Given the description of an element on the screen output the (x, y) to click on. 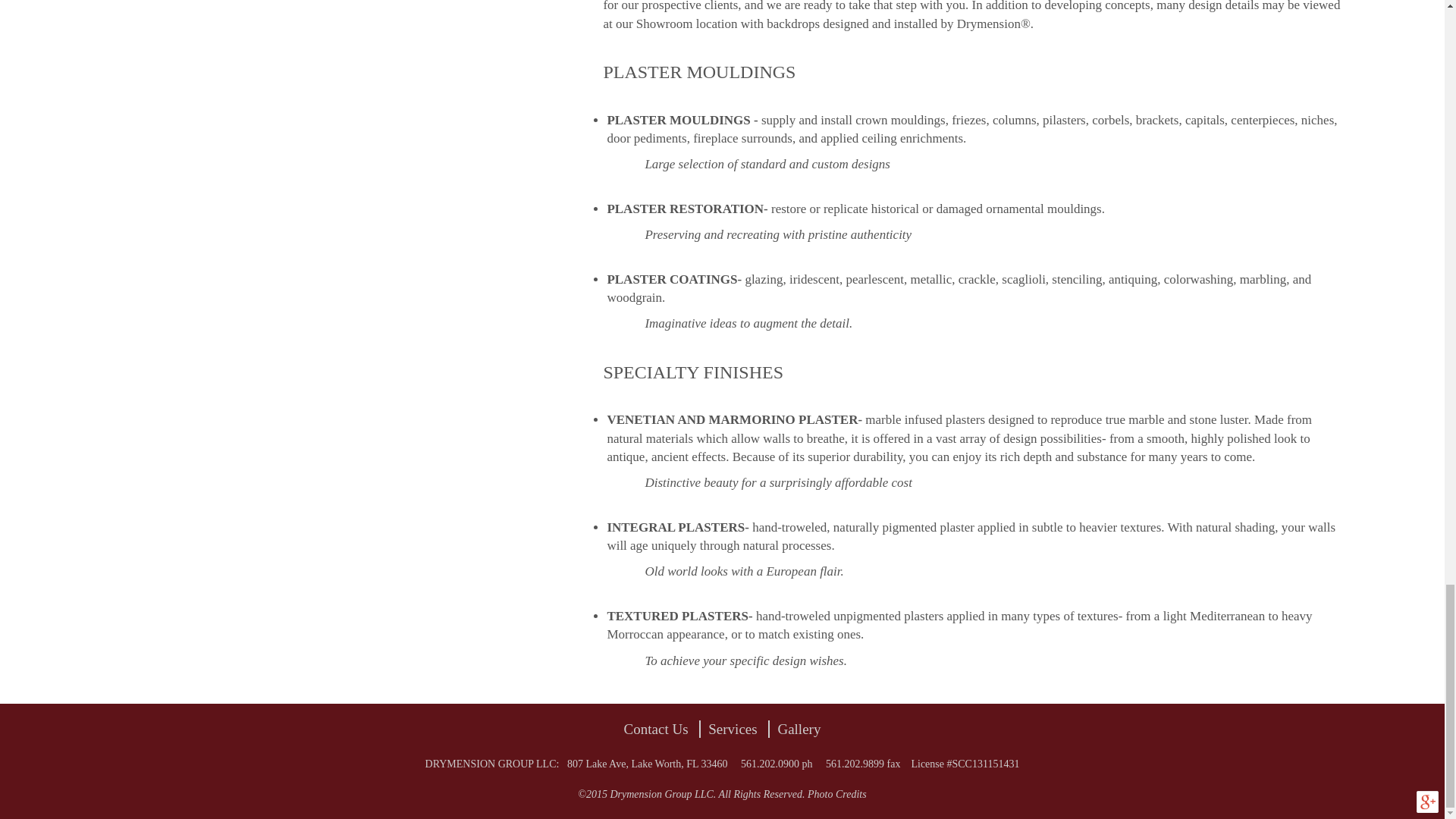
Services (732, 729)
Contact Us (656, 729)
Photo Credits (837, 794)
Gallery (799, 729)
